Given the description of an element on the screen output the (x, y) to click on. 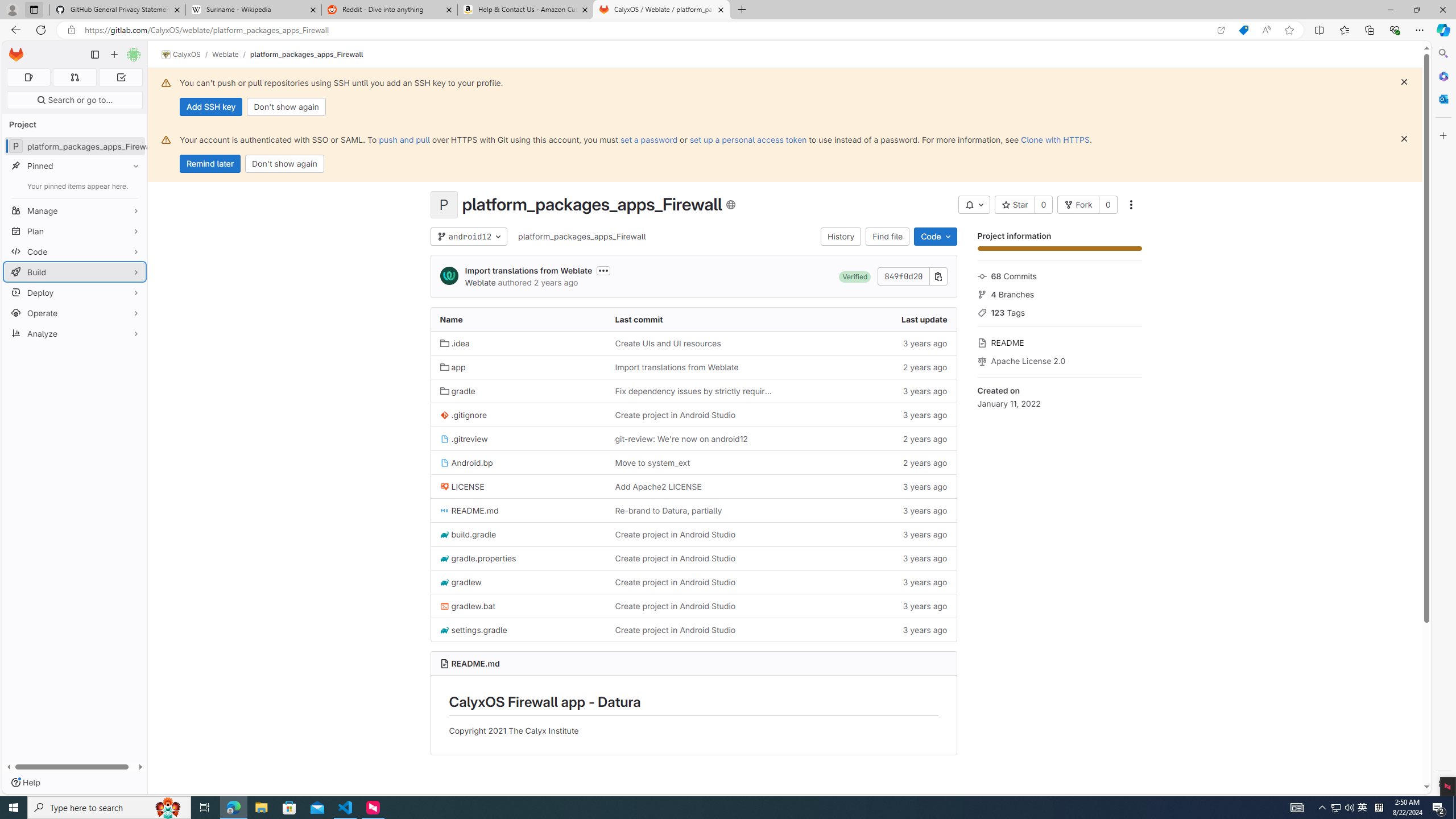
settings.gradle (517, 629)
README (1058, 341)
platform_packages_apps_Firewall (582, 235)
Pinned (74, 165)
Re-brand to Datura, partially (668, 510)
gradle (517, 390)
Class: s16 gl-alert-icon gl-alert-icon-no-title (165, 139)
platform_packages_apps_Firewall (582, 236)
Copy commit SHA (937, 275)
